Given the description of an element on the screen output the (x, y) to click on. 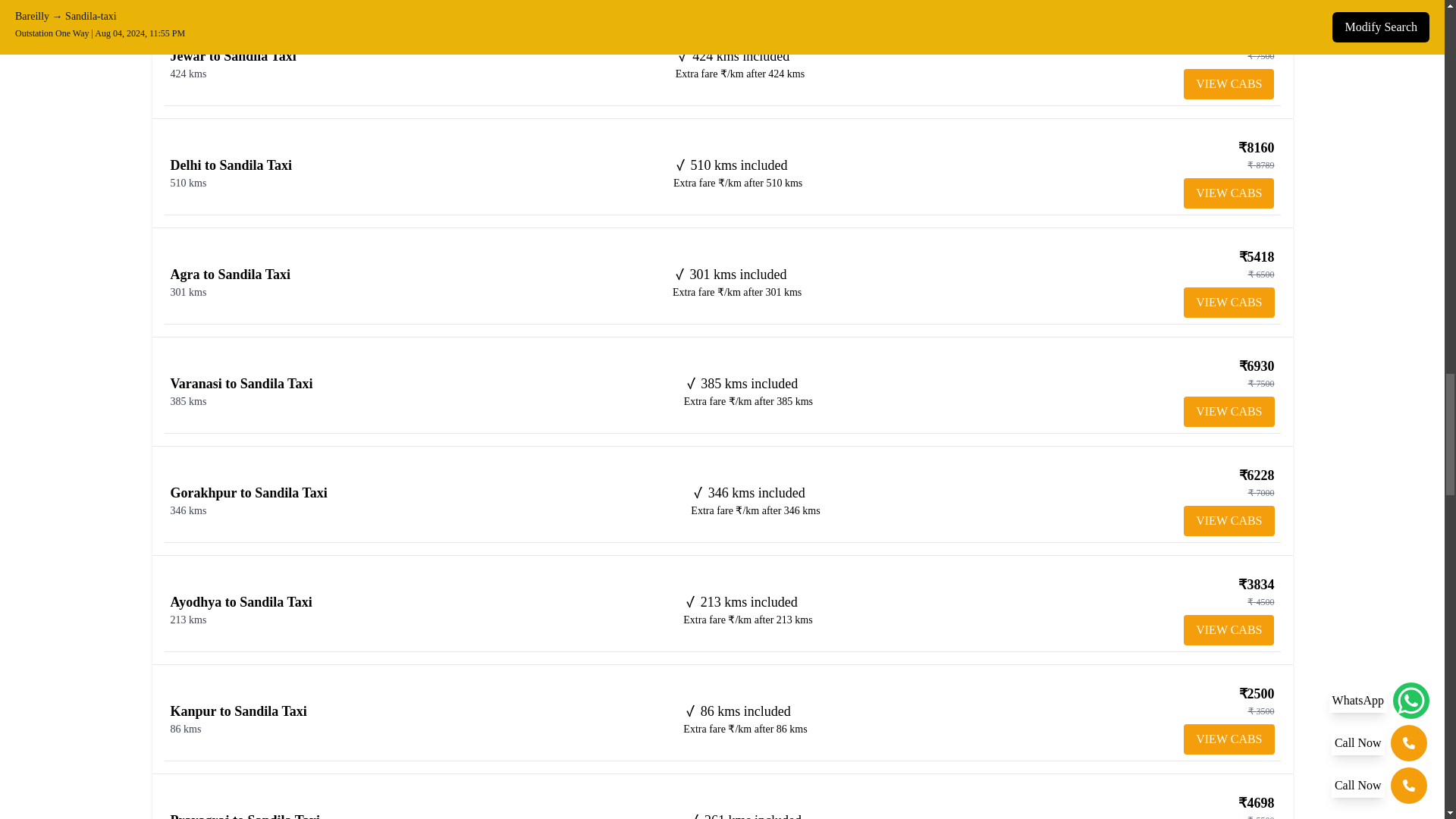
Jewar to Sandila Taxi (232, 55)
